Given the description of an element on the screen output the (x, y) to click on. 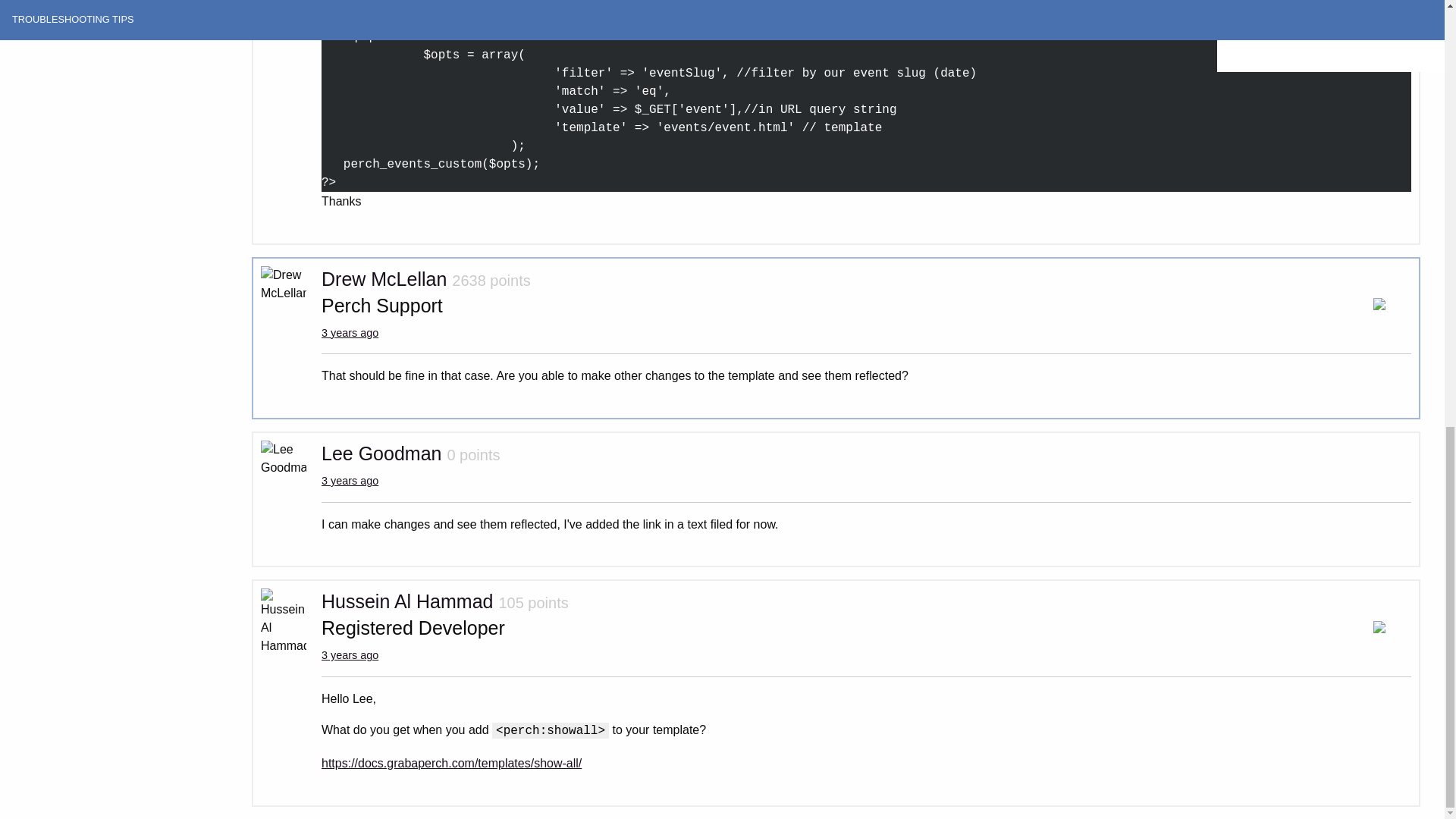
3 years ago (349, 654)
3 years ago (349, 332)
Hussein Al Hammad (407, 600)
Lee Goodman (381, 453)
Drew McLellan (383, 278)
3 years ago (349, 480)
